Given the description of an element on the screen output the (x, y) to click on. 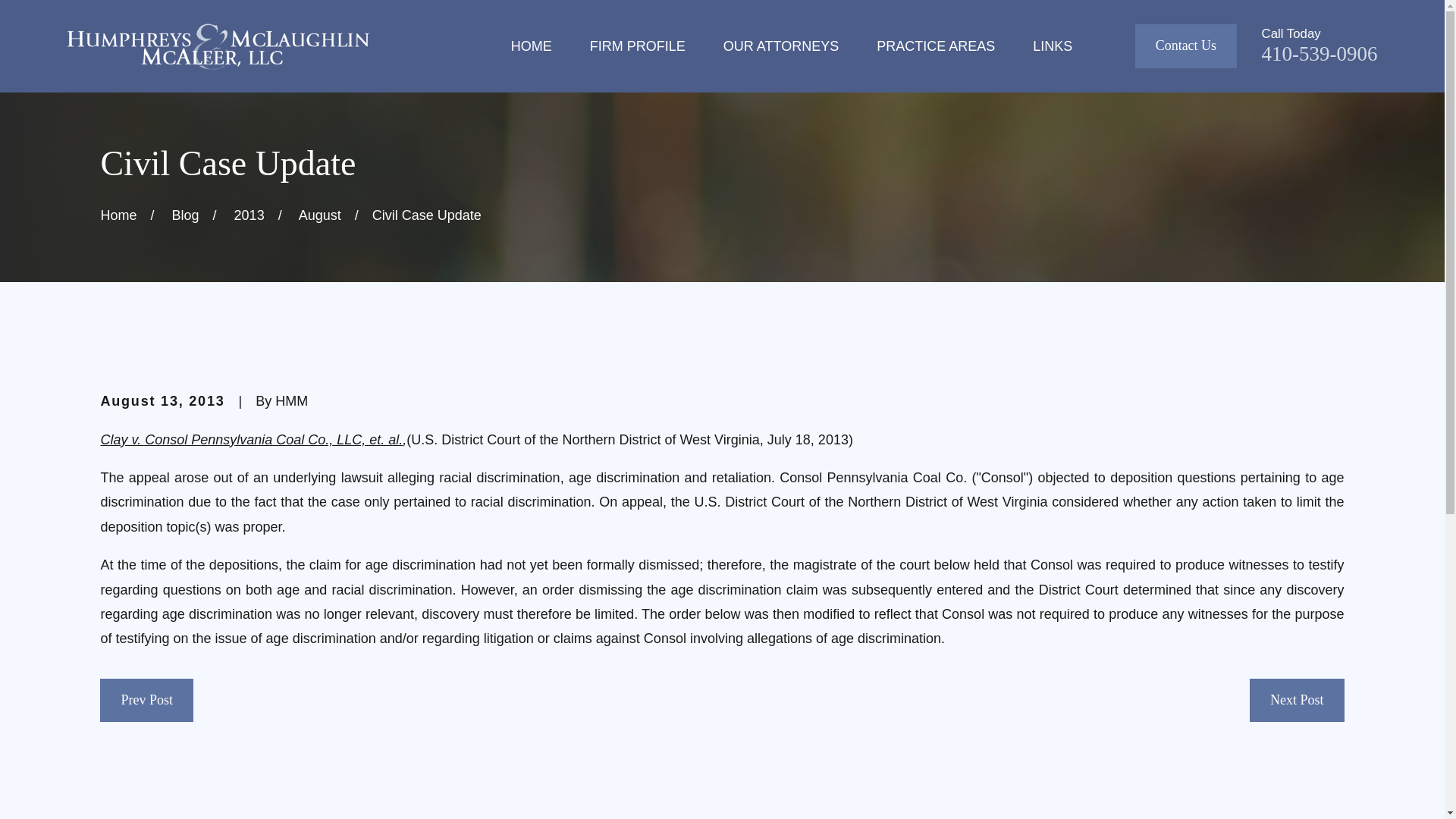
Home (217, 46)
PRACTICE AREAS (935, 45)
Go Home (118, 215)
OUR ATTORNEYS (780, 45)
FIRM PROFILE (637, 45)
